Given the description of an element on the screen output the (x, y) to click on. 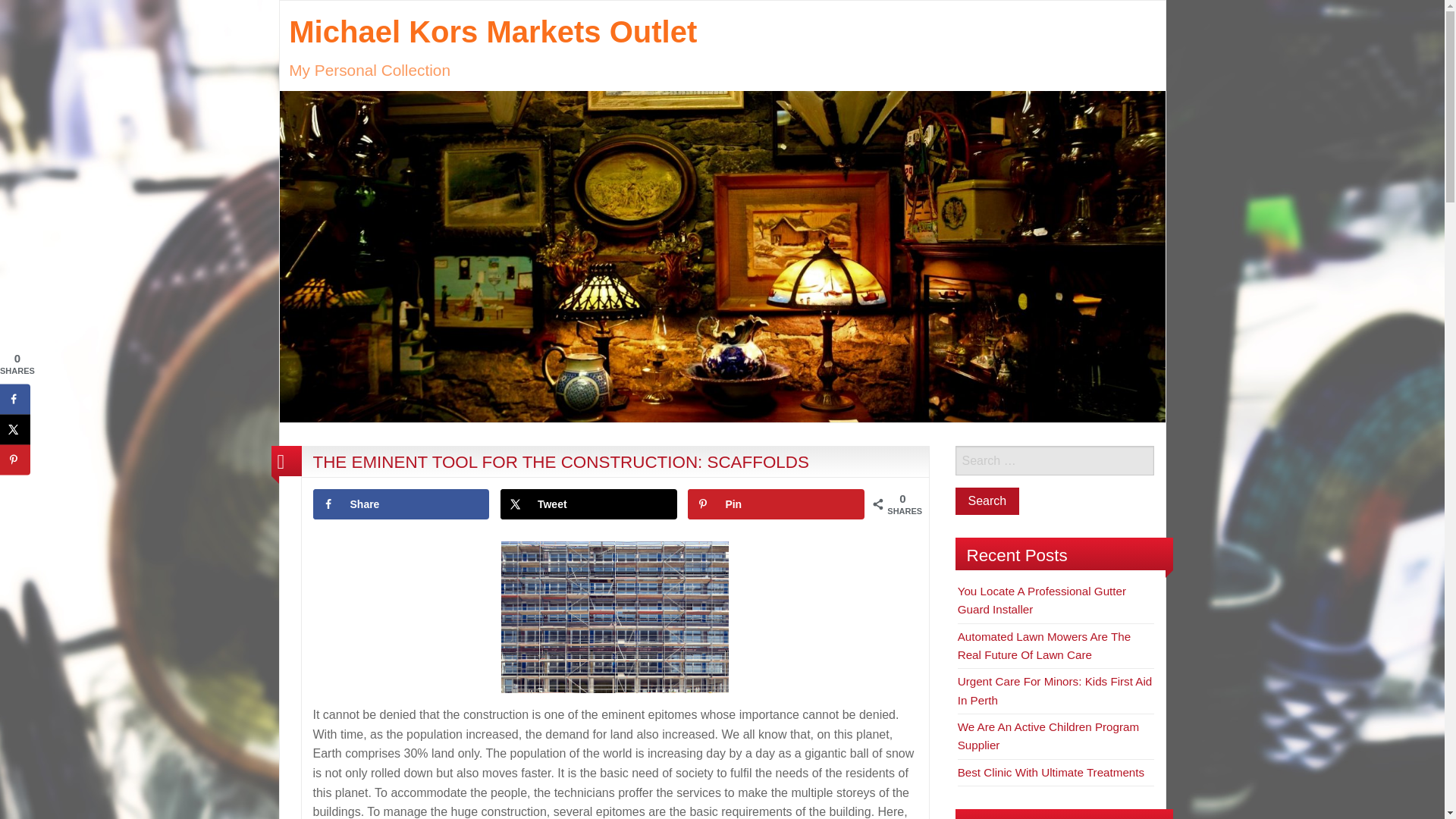
Michael Kors Markets Outlet  (721, 255)
Share (401, 503)
Automated Lawn Mowers Are The Real Future Of Lawn Care (1044, 644)
Share on X (588, 503)
THE EMINENT TOOL FOR THE CONSTRUCTION: SCAFFOLDS (560, 461)
Search (987, 501)
Tweet (588, 503)
Share on Facebook (401, 503)
3.jpg (614, 616)
Search (987, 501)
You Locate A Professional Gutter Guard Installer (1041, 599)
Urgent Care For Minors: Kids First Aid In Perth (1055, 689)
We Are An Active Children Program Supplier (1048, 735)
Pin (775, 503)
Best Clinic With Ultimate Treatments (1051, 771)
